Given the description of an element on the screen output the (x, y) to click on. 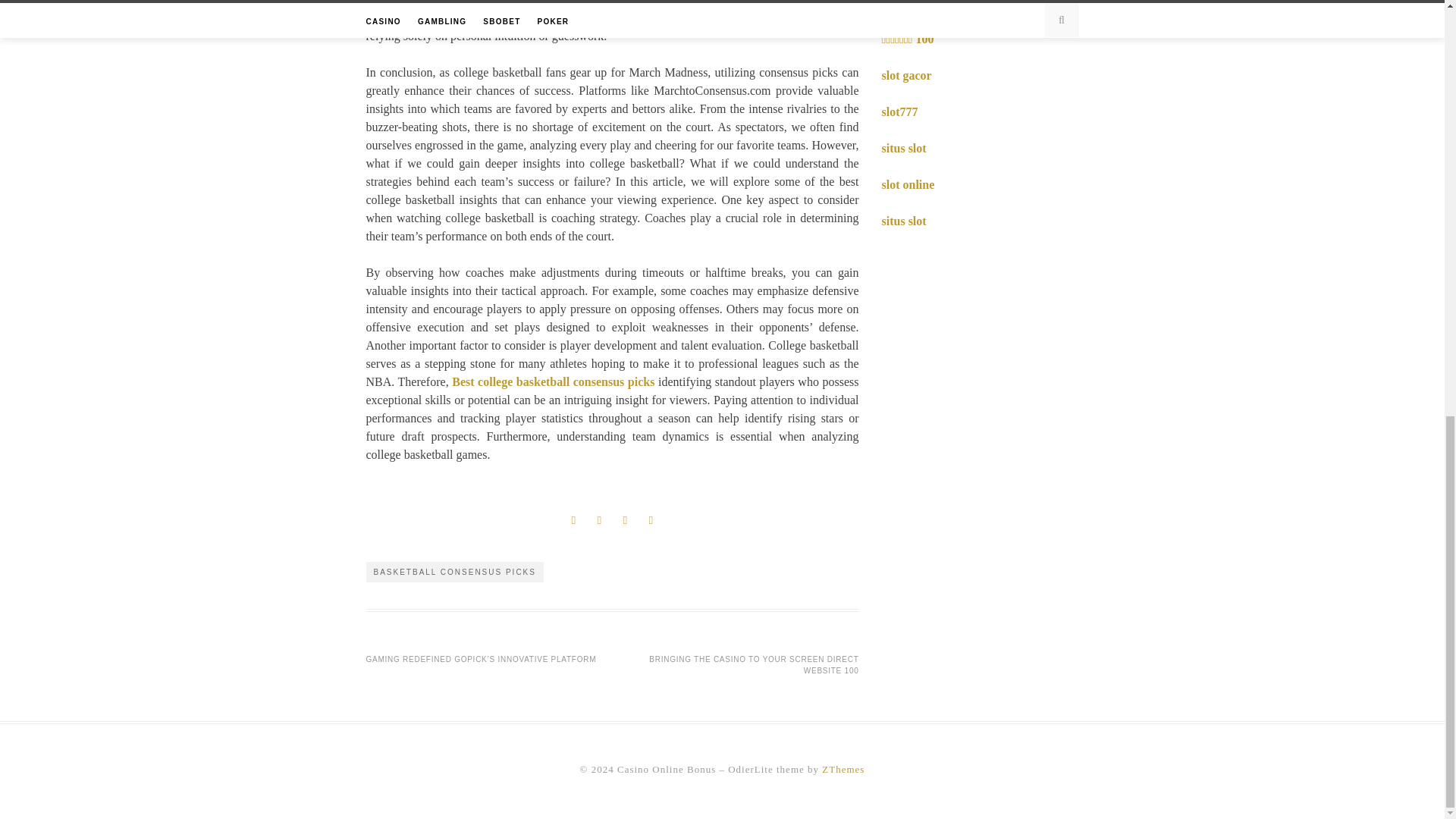
slot777 (898, 111)
slot gacor (905, 74)
ZThemes (843, 768)
BASKETBALL CONSENSUS PICKS (454, 571)
BRINGING THE CASINO TO YOUR SCREEN DIRECT WEBSITE 100 (754, 664)
situs slot (903, 147)
situs slot (903, 220)
Best college basketball consensus picks (552, 381)
slot online (907, 184)
